Given the description of an element on the screen output the (x, y) to click on. 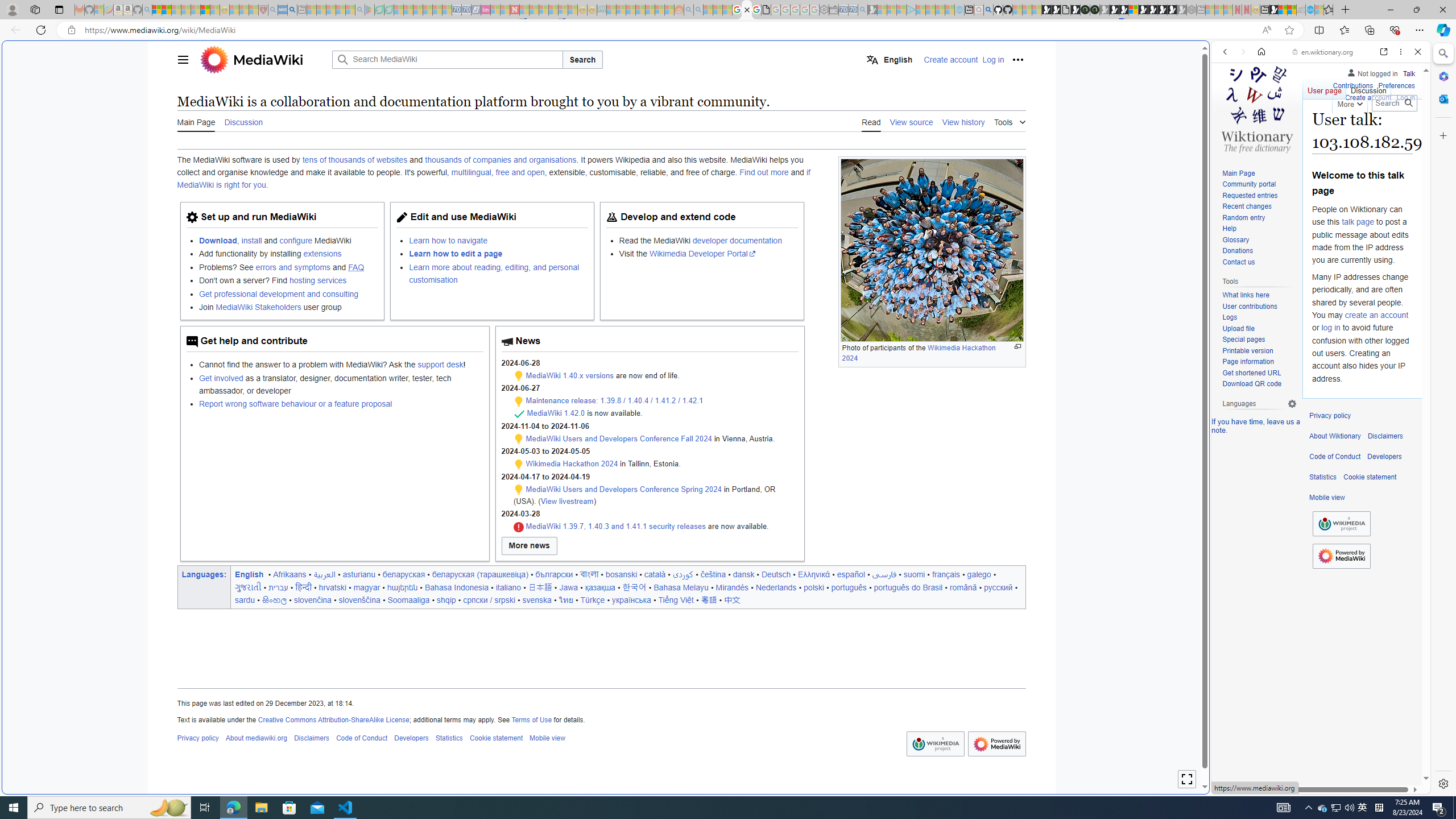
Main Page (1238, 172)
Contributions (1352, 85)
Report wrong software behaviour or a feature proposal (340, 403)
support desk (440, 364)
About mediawiki.org (255, 738)
Recent changes (1259, 206)
Nederlands (775, 587)
Log in (1405, 98)
Discussion (1367, 87)
